Given the description of an element on the screen output the (x, y) to click on. 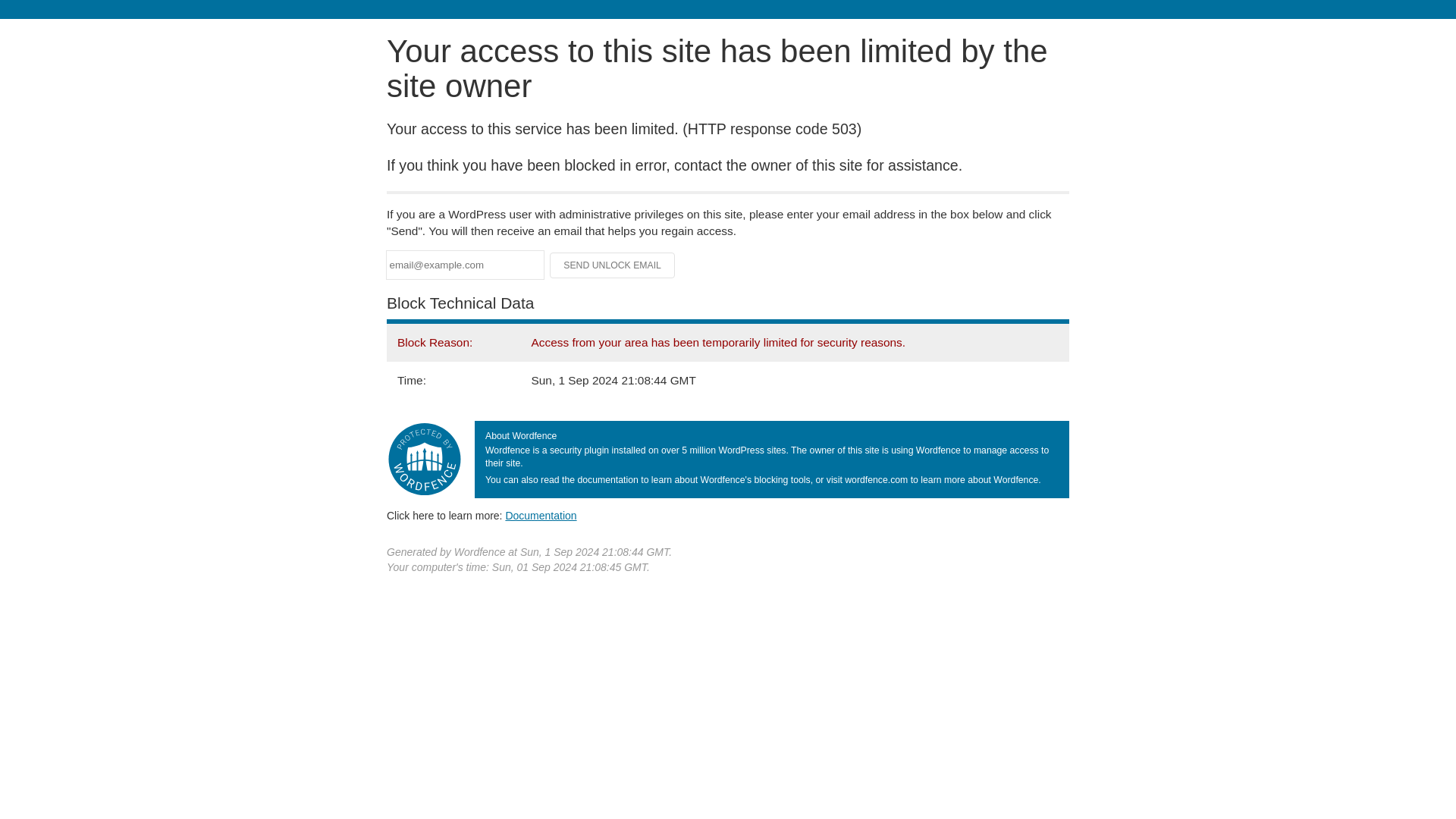
Send Unlock Email (612, 265)
Documentation (540, 515)
Send Unlock Email (612, 265)
